Given the description of an element on the screen output the (x, y) to click on. 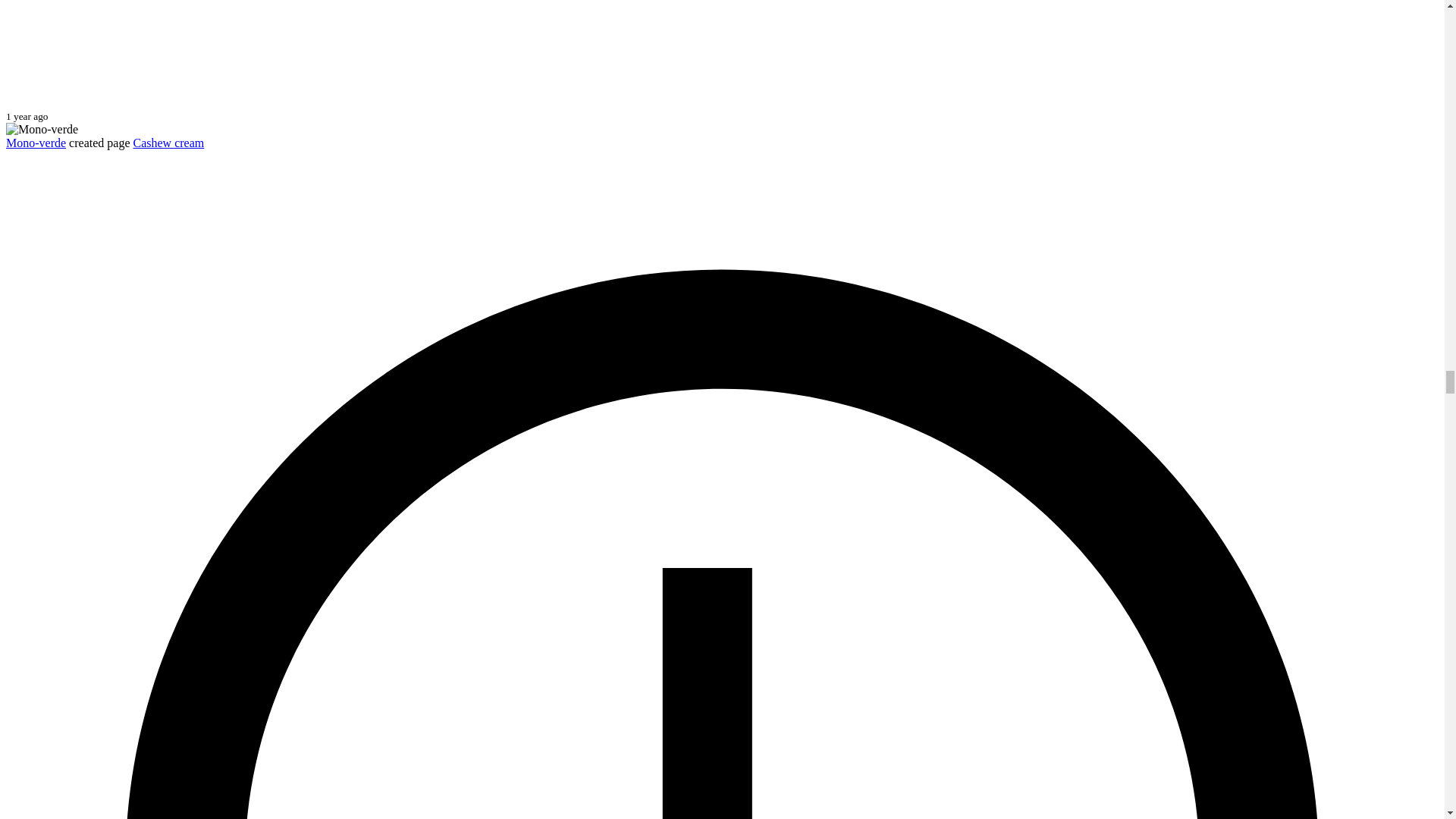
Mono-verde (35, 142)
Cashew cream (167, 142)
